Given the description of an element on the screen output the (x, y) to click on. 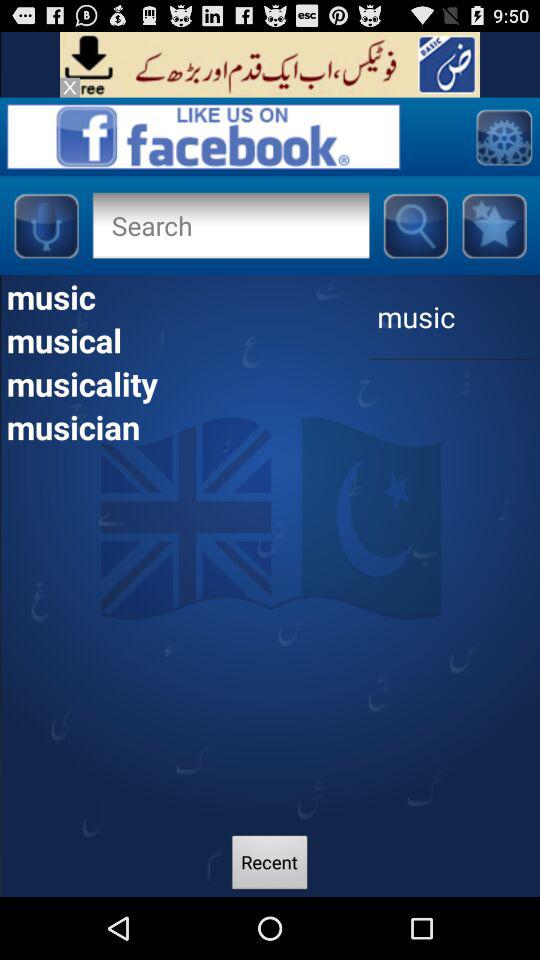
go to search option (203, 136)
